Given the description of an element on the screen output the (x, y) to click on. 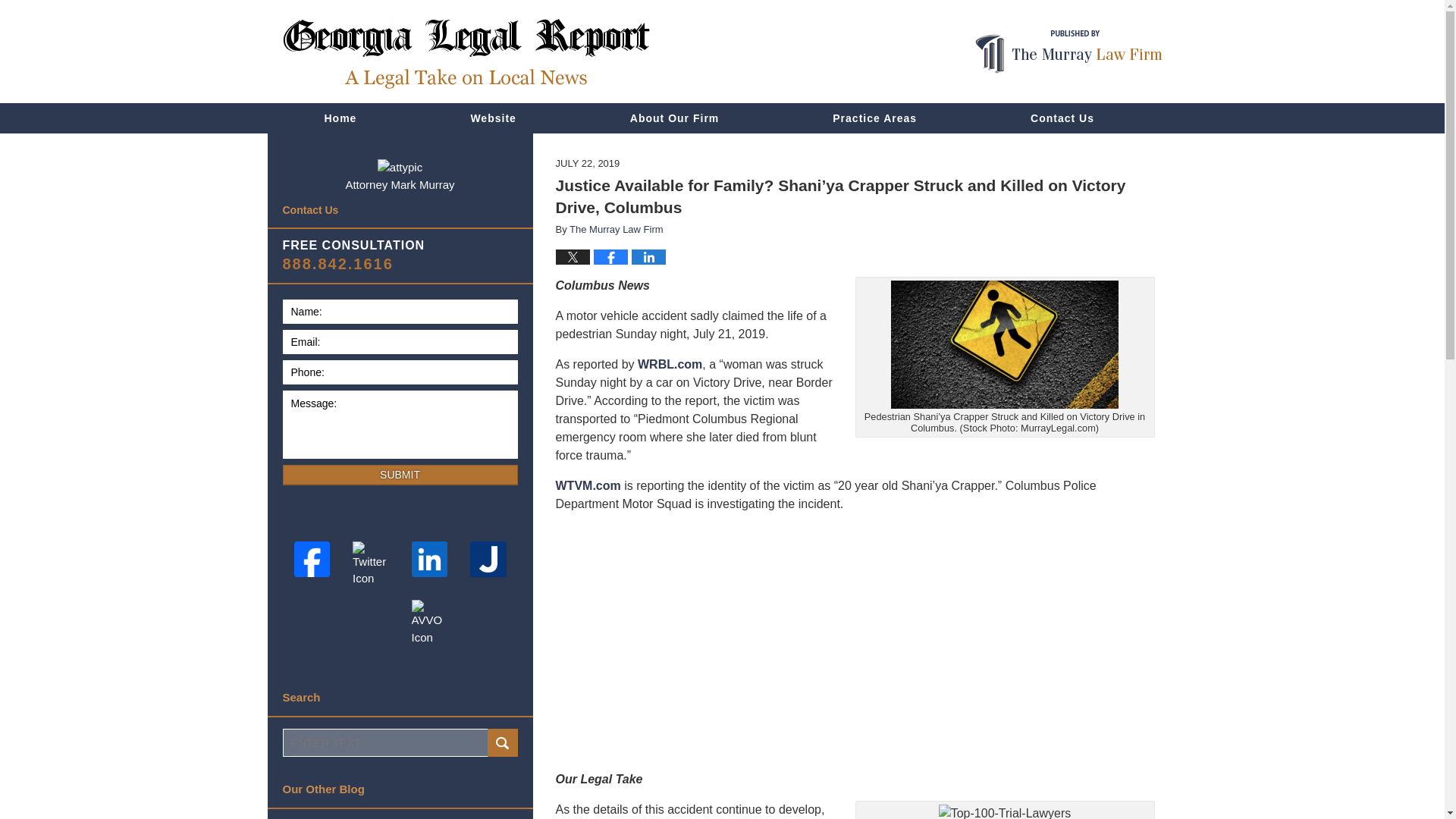
Contact Us (1062, 118)
Home (339, 118)
Practice Areas (875, 118)
Published By The Murray Law Firm, LLC (1068, 51)
Facebook (311, 559)
Justia (488, 559)
LinkedIn (430, 559)
SUBMIT (399, 475)
Twitter (370, 564)
Contact Us (399, 210)
Georgia Legal Report (465, 53)
AVVO (430, 622)
Website (492, 118)
About Our Firm (674, 118)
WRBL.com (669, 364)
